Given the description of an element on the screen output the (x, y) to click on. 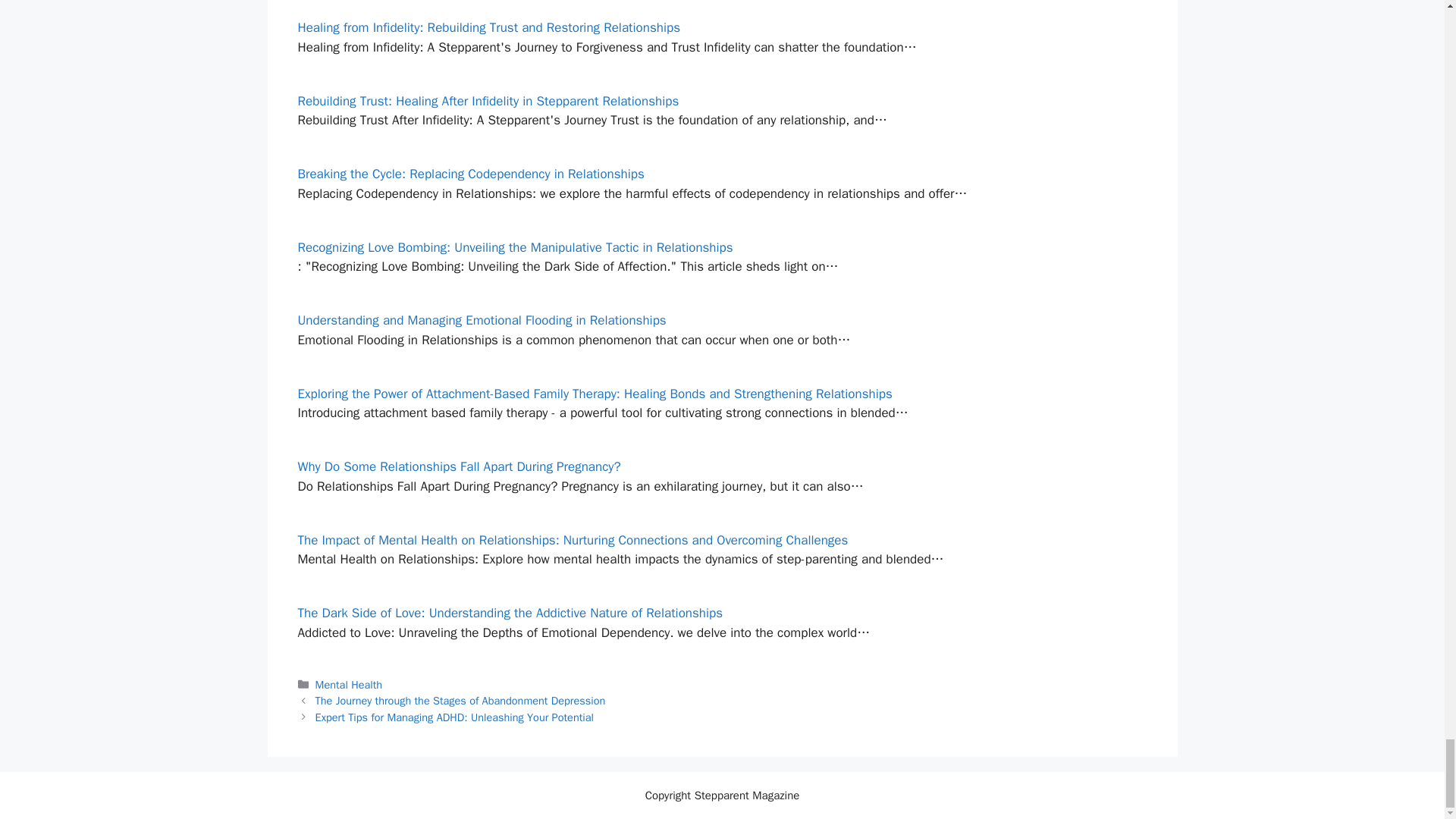
Expert Tips for Managing ADHD: Unleashing Your Potential (454, 716)
Why Do Some Relationships Fall Apart During Pregnancy? (458, 466)
The Journey through the Stages of Abandonment Depression (460, 700)
